Given the description of an element on the screen output the (x, y) to click on. 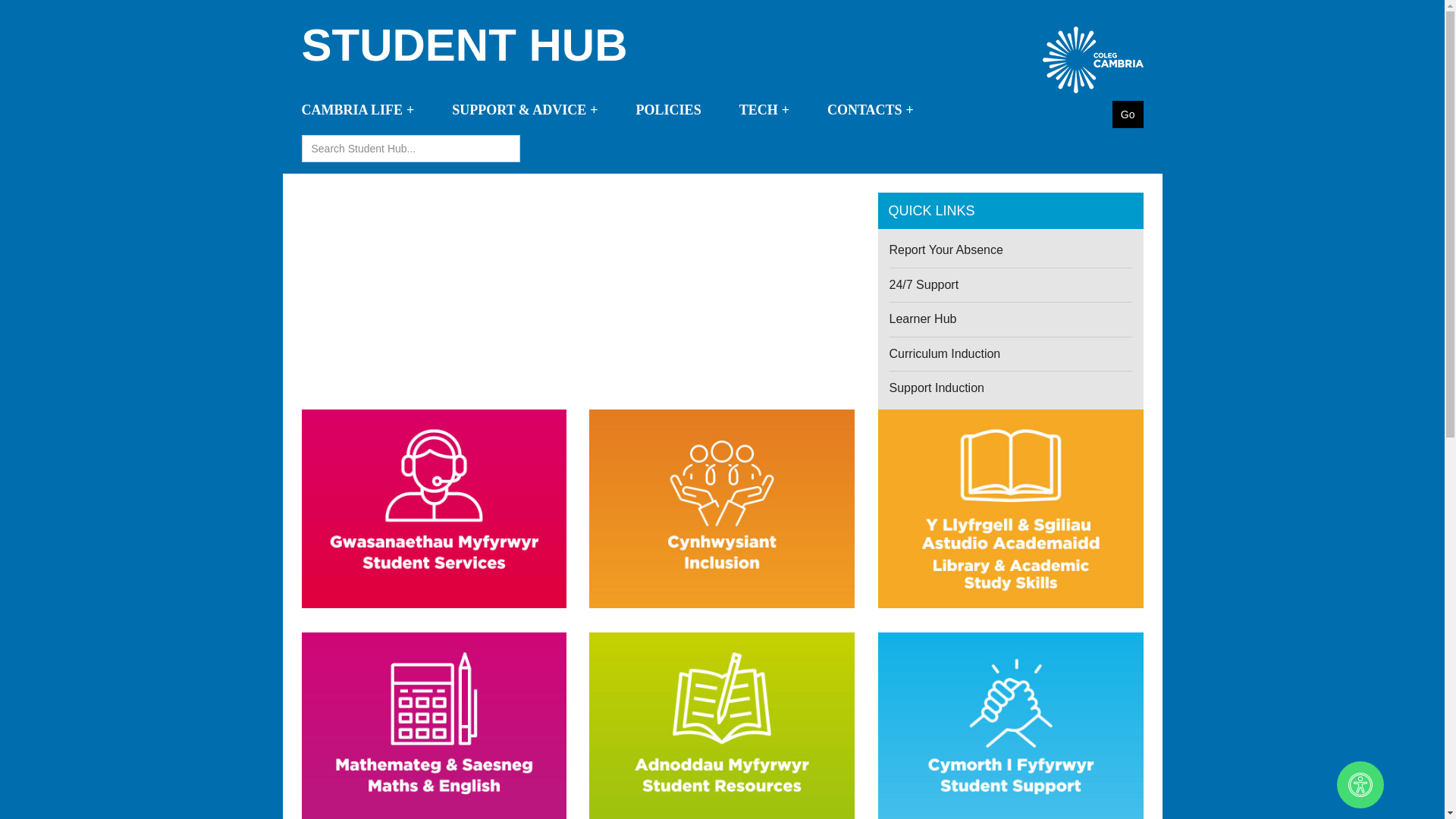
Go (1127, 113)
CAMBRIA LIFE (365, 114)
STUDENT HUB (506, 45)
Go (1127, 113)
